Given the description of an element on the screen output the (x, y) to click on. 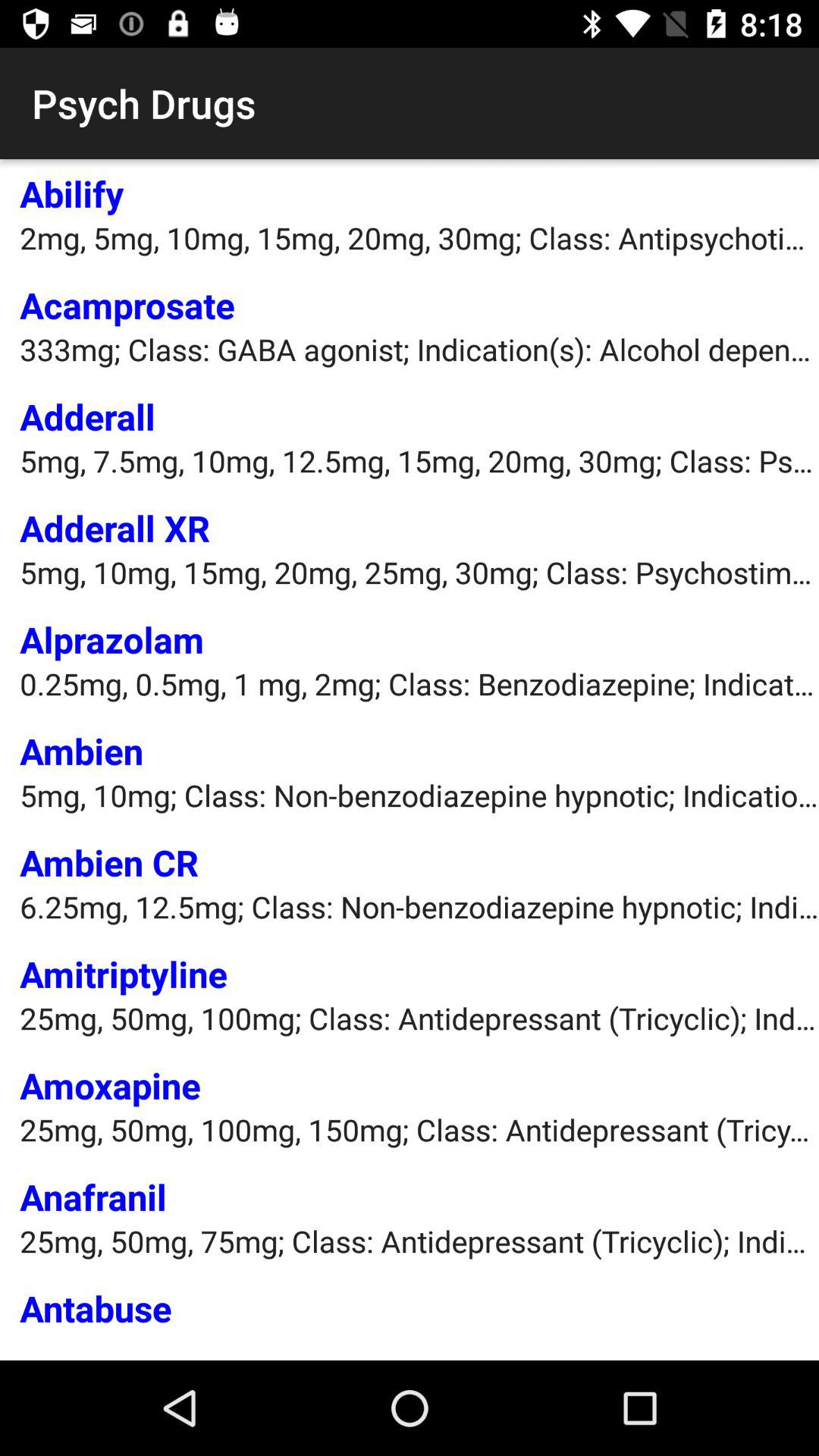
select app above the 333mg class gaba (126, 304)
